Given the description of an element on the screen output the (x, y) to click on. 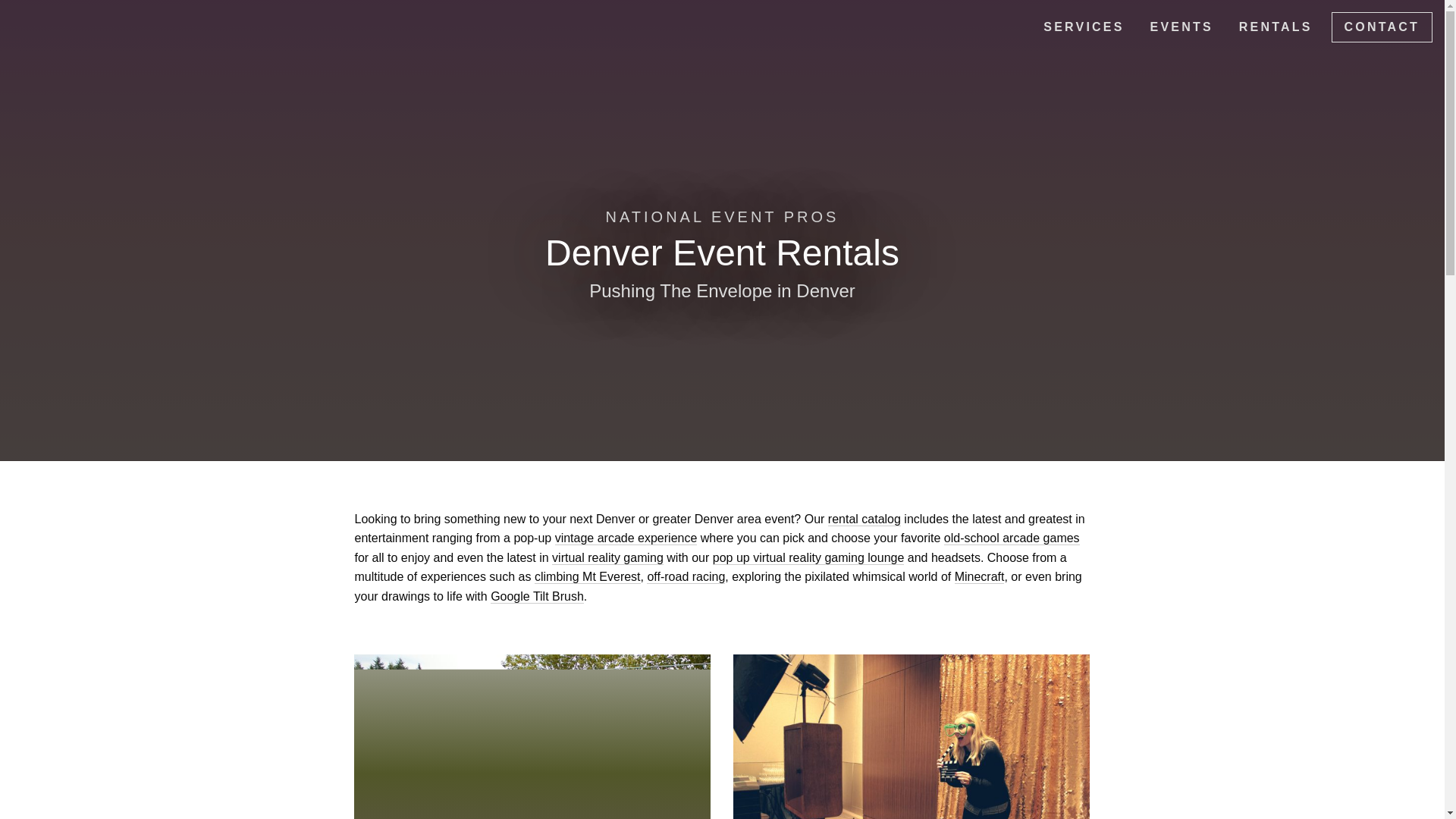
virtual reality gaming (607, 558)
vintage arcade experience (625, 538)
old-school arcade games (1011, 538)
off-road racing (685, 576)
EVENTS (1181, 27)
Minecraft (979, 576)
CONTACT (1382, 27)
Contact Us (1382, 27)
RENTALS (1274, 27)
Denver Event Rentals (1274, 27)
SERVICES (1083, 27)
Google Tilt Brush (536, 596)
